Given the description of an element on the screen output the (x, y) to click on. 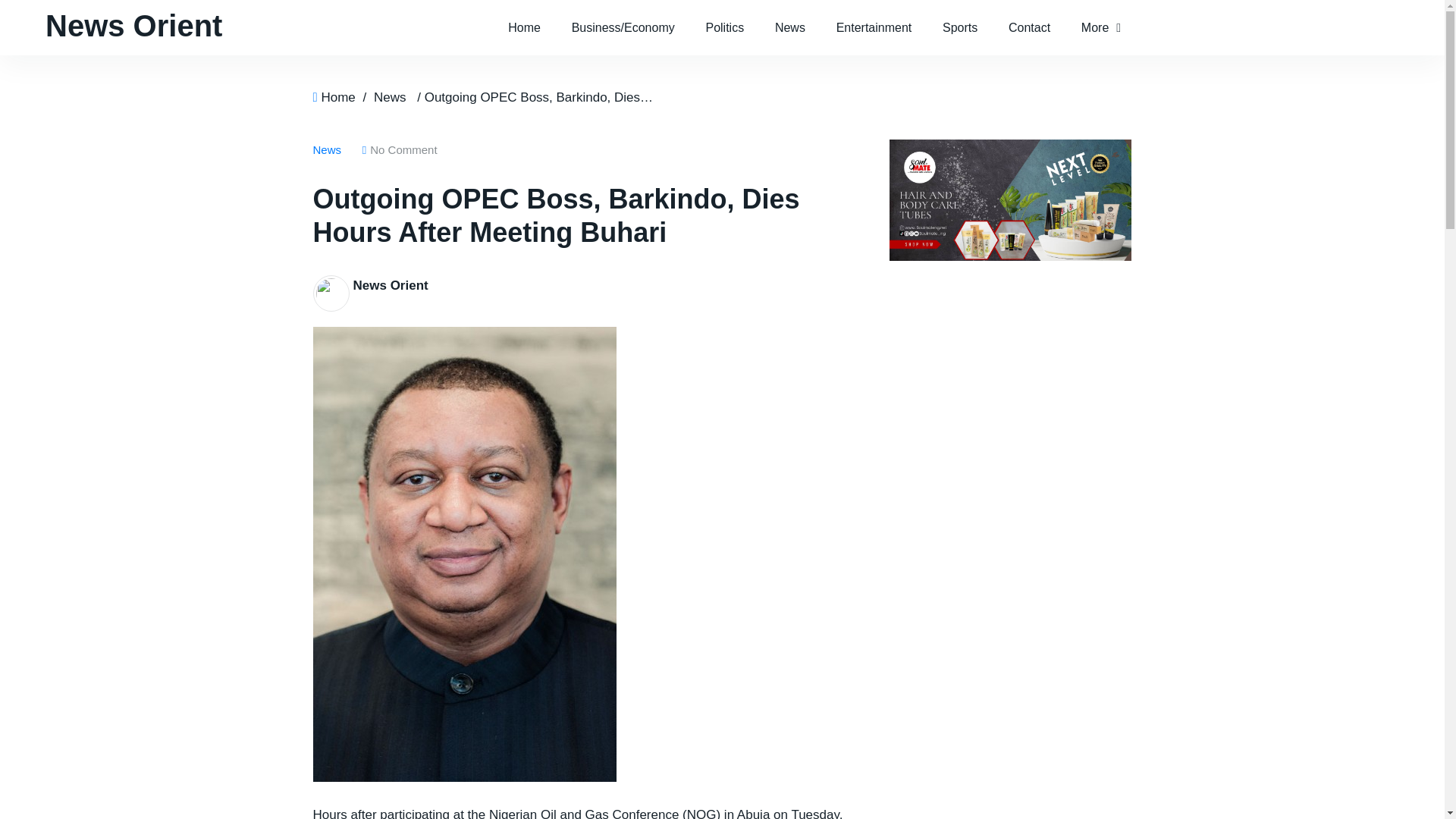
News Orient (390, 285)
Home (524, 27)
News Orient (133, 25)
News (390, 97)
Home (337, 97)
More (1100, 27)
News (330, 149)
Politics (724, 27)
News (789, 27)
Sports (959, 27)
Entertainment (874, 27)
Contact (1029, 27)
